Given the description of an element on the screen output the (x, y) to click on. 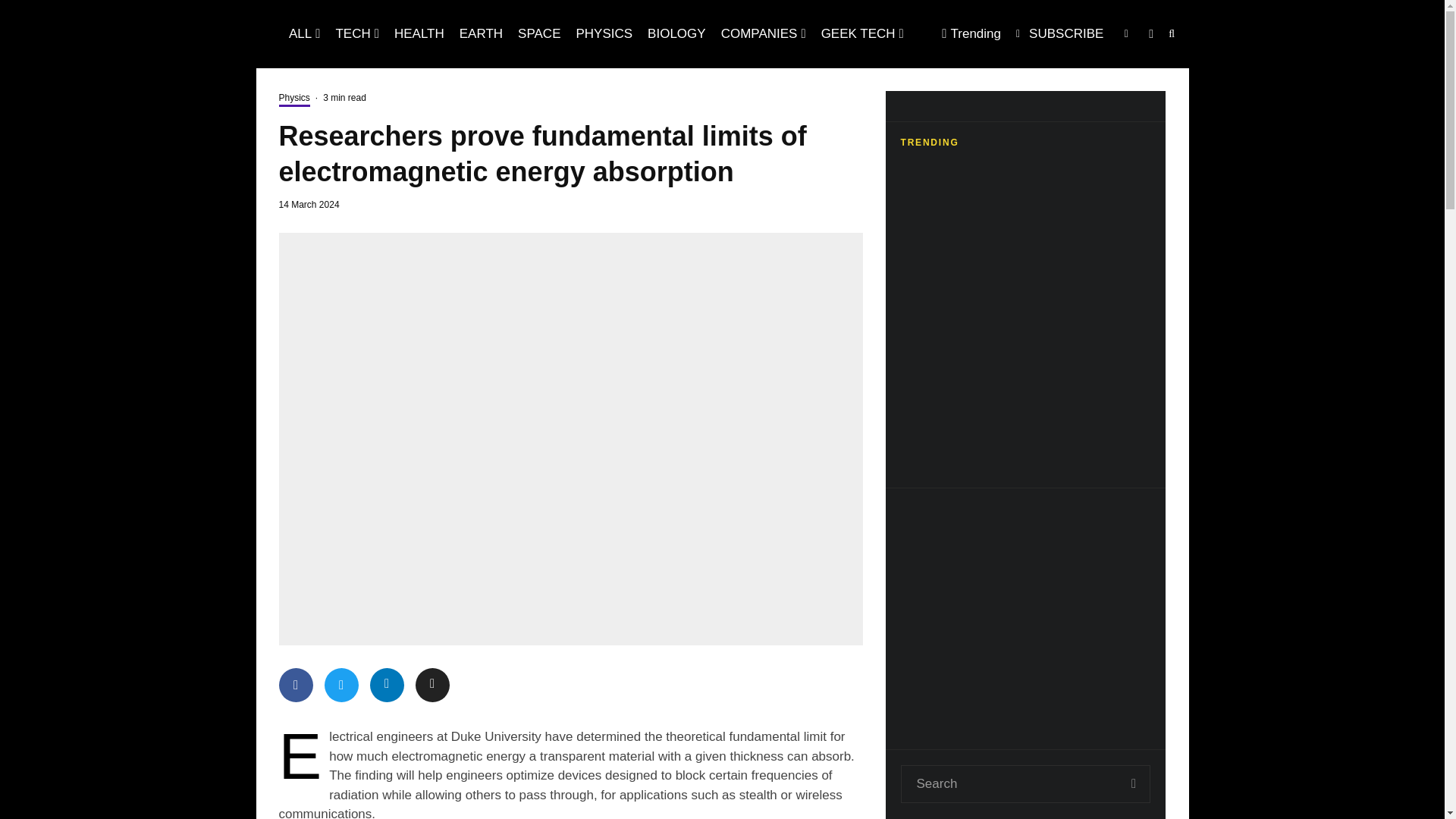
HEALTH (419, 33)
